Given the description of an element on the screen output the (x, y) to click on. 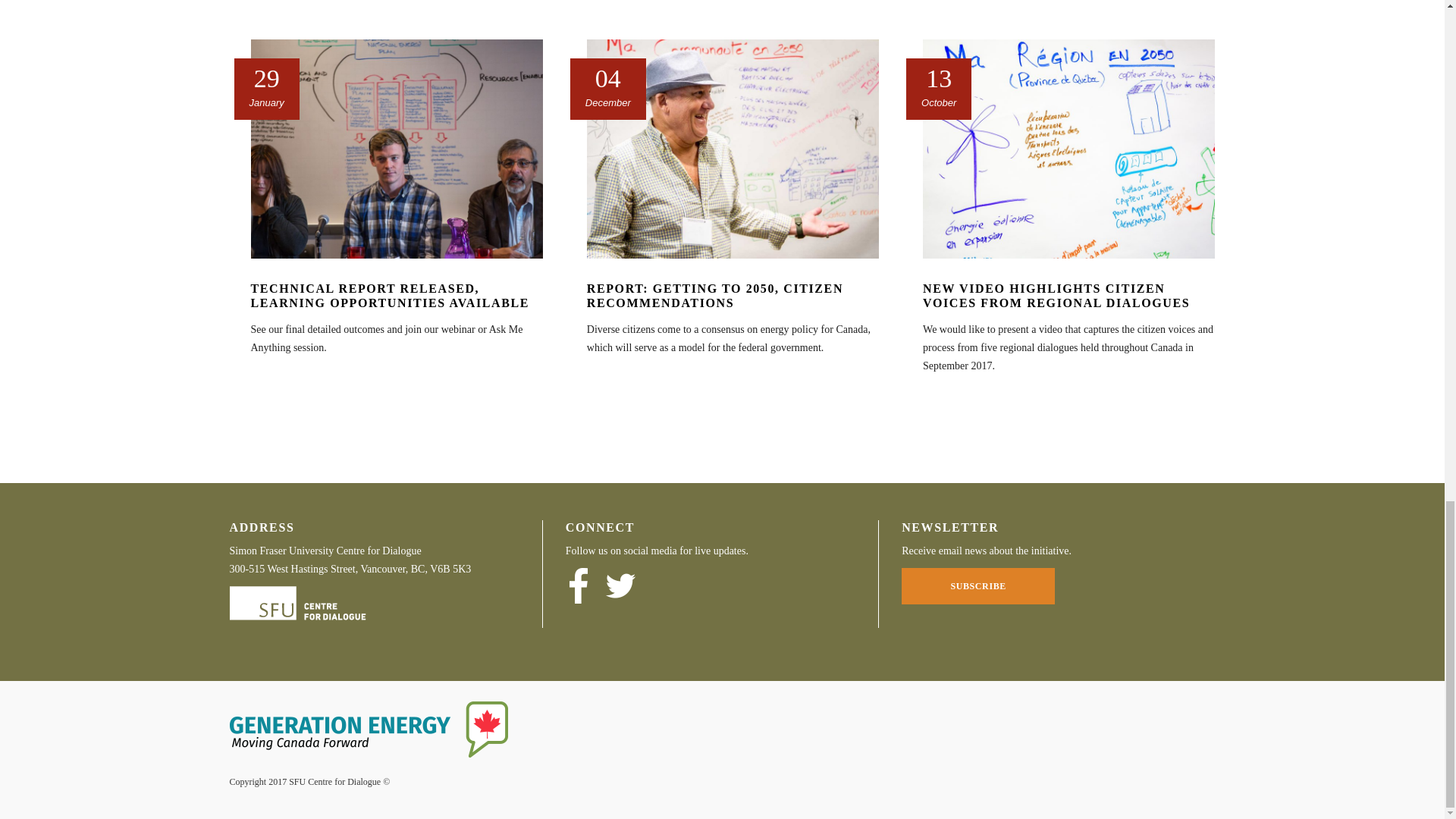
REPORT: GETTING TO 2050, CITIZEN RECOMMENDATIONS (714, 295)
TECHNICAL REPORT RELEASED, LEARNING OPPORTUNITIES AVAILABLE (389, 295)
NEW VIDEO HIGHLIGHTS CITIZEN VOICES FROM REGIONAL DIALOGUES (1056, 295)
SUBSCRIBE (977, 586)
